Given the description of an element on the screen output the (x, y) to click on. 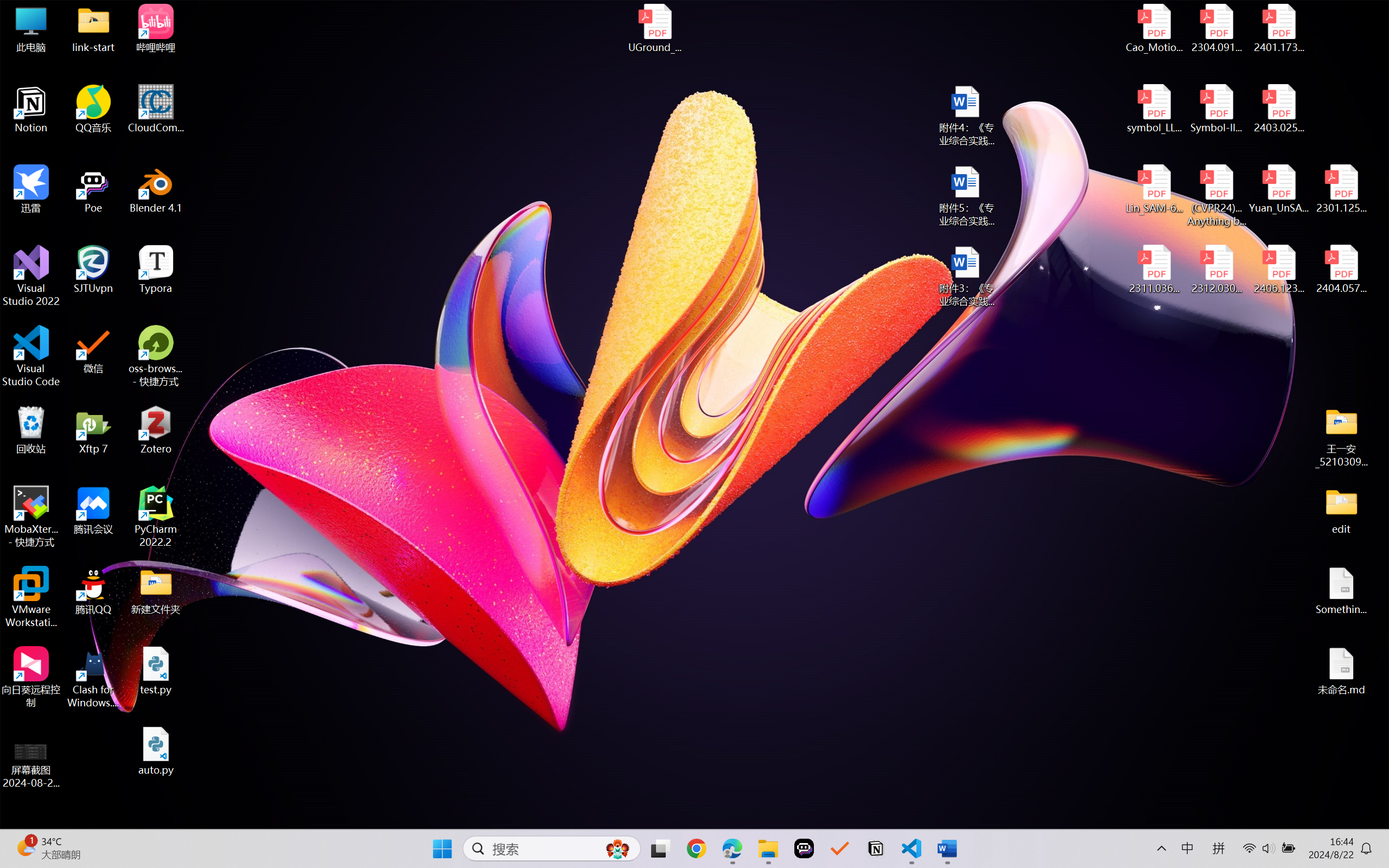
2311.03658v2.pdf (1154, 269)
2406.12373v2.pdf (1278, 269)
Visual Studio 2022 (31, 276)
2301.12597v3.pdf (1340, 189)
VMware Workstation Pro (31, 597)
